Given the description of an element on the screen output the (x, y) to click on. 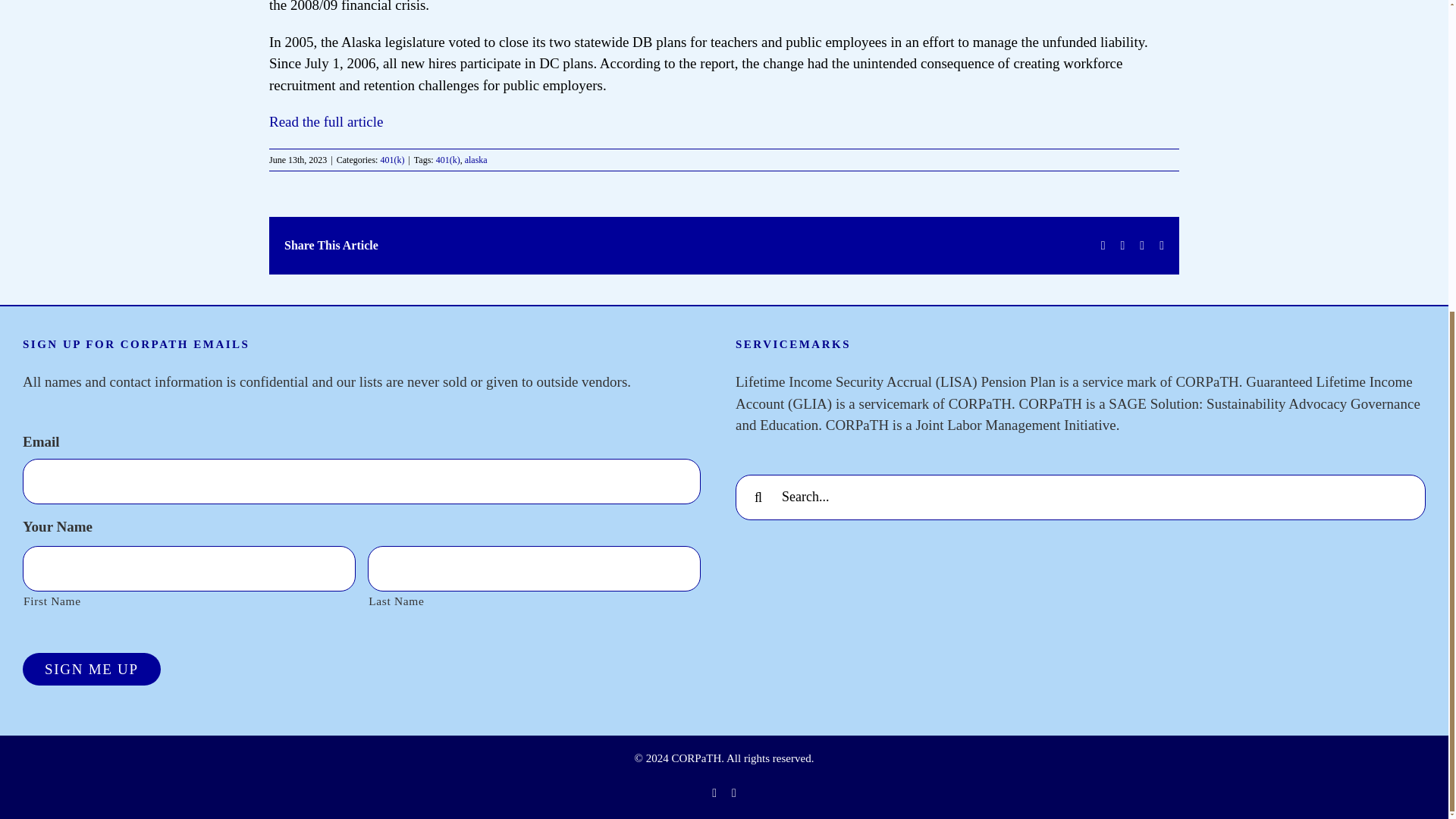
Sign me up (91, 668)
